Given the description of an element on the screen output the (x, y) to click on. 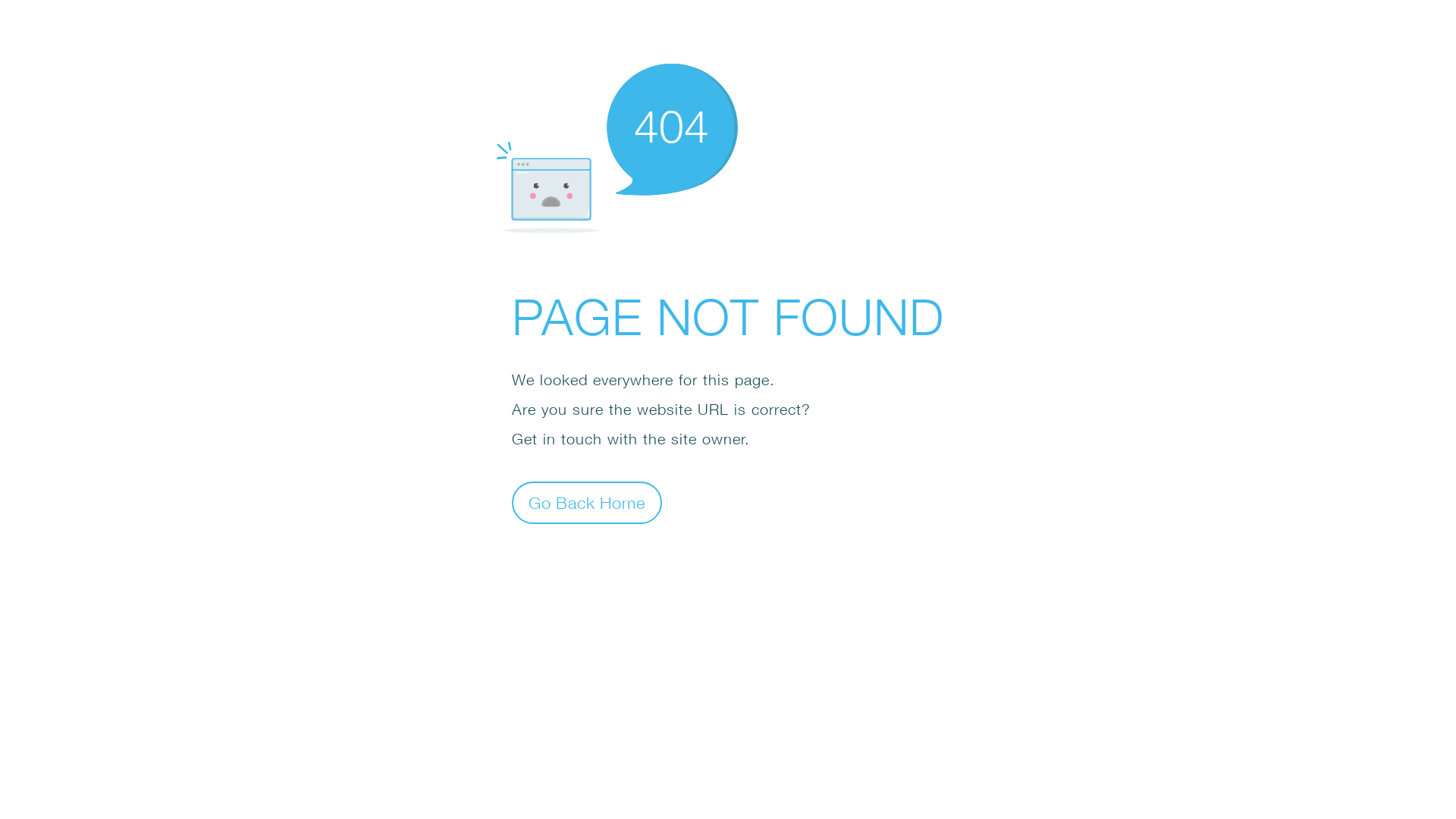
Go Back Home Element type: text (586, 502)
